Given the description of an element on the screen output the (x, y) to click on. 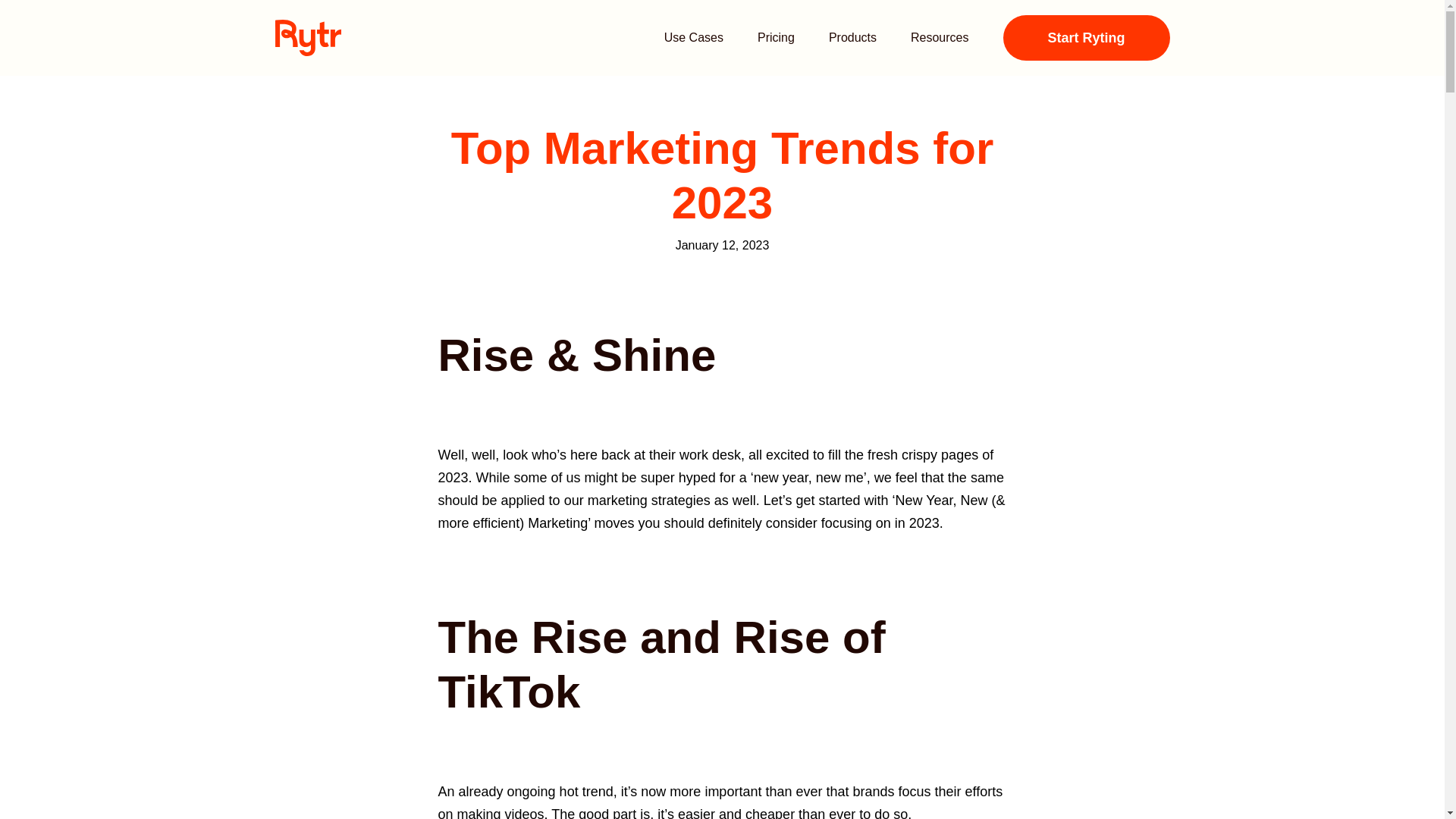
Use Cases (693, 37)
Products (852, 37)
Start Ryting (1086, 37)
Pricing (775, 37)
Resources (939, 37)
